Given the description of an element on the screen output the (x, y) to click on. 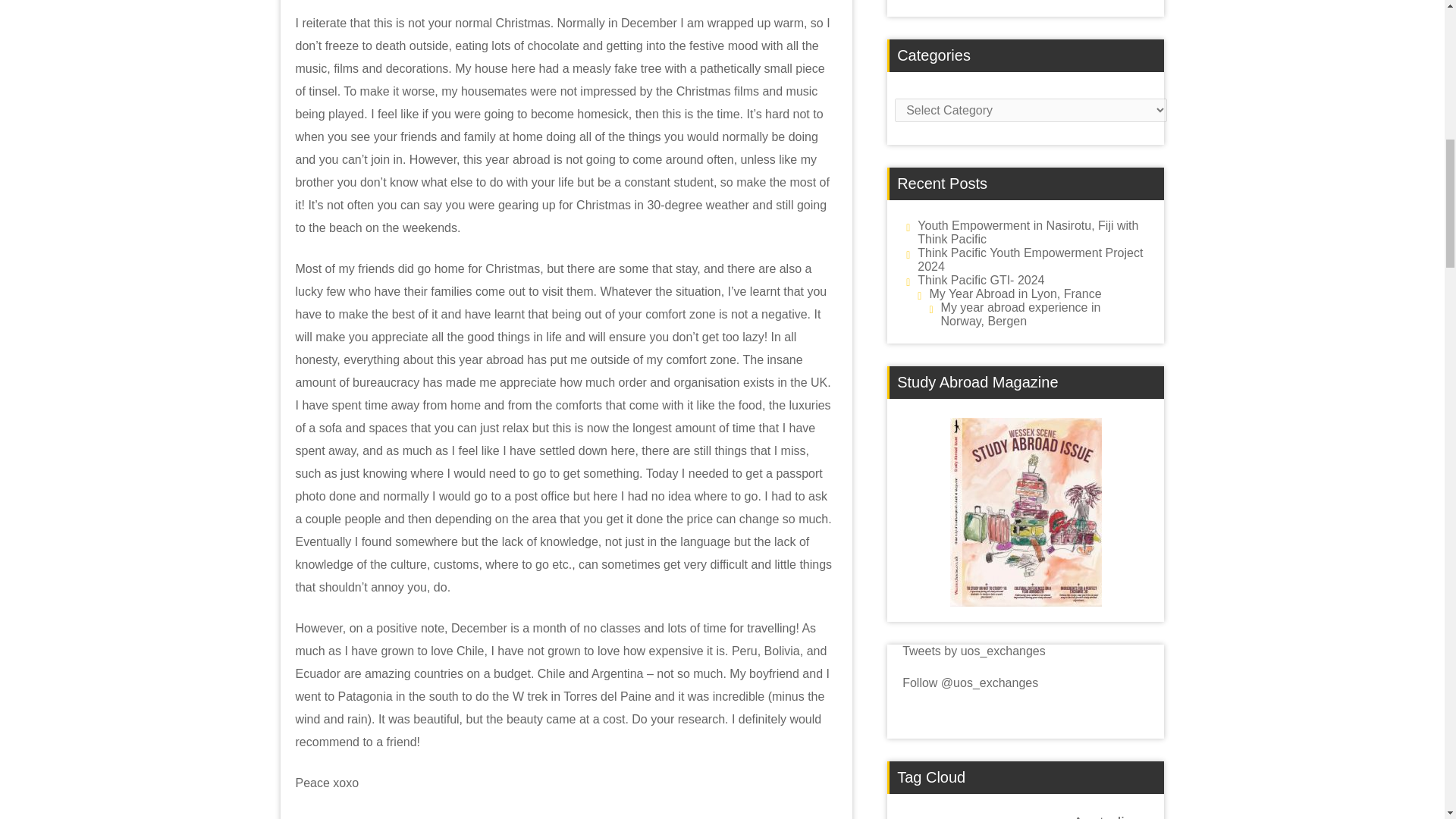
My year abroad experience in Norway, Bergen (1020, 314)
Wessex Scene - Study Abroad Magazine (1026, 511)
Youth Empowerment in Nasirotu, Fiji with Think Pacific (1027, 232)
adelaide (1018, 818)
My Year Abroad in Lyon, France (1014, 293)
Think Pacific Youth Empowerment Project 2024 (1029, 259)
Think Pacific GTI- 2024 (980, 279)
